Given the description of an element on the screen output the (x, y) to click on. 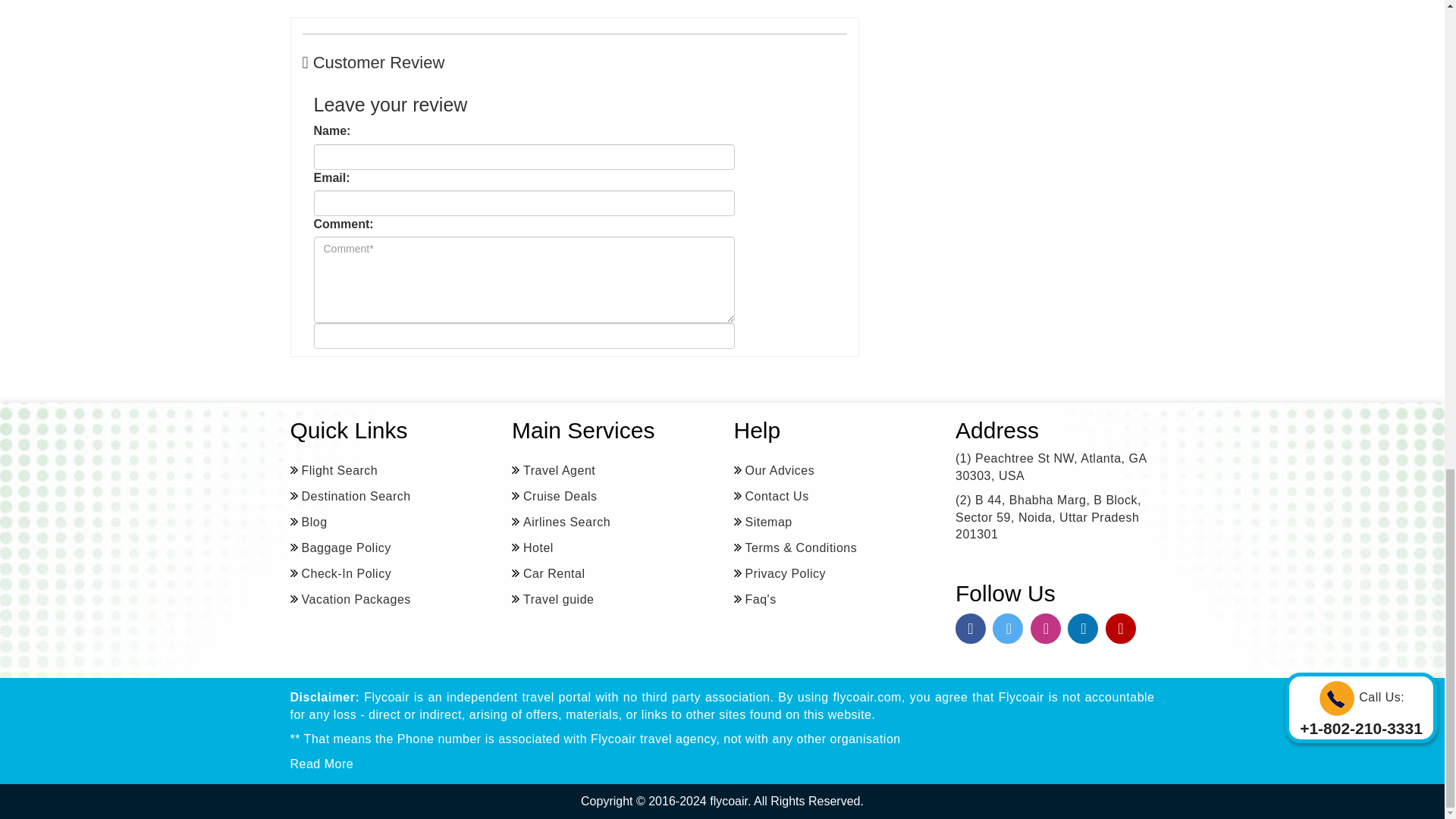
Hotel (532, 547)
Check-In Policy (340, 574)
Blog (307, 522)
Destination Search (349, 496)
Travel Agent (553, 470)
Airlines Search (561, 522)
Submit (524, 335)
Cruise Deals (554, 496)
Vacation Packages (349, 599)
Flight Search (333, 470)
